Given the description of an element on the screen output the (x, y) to click on. 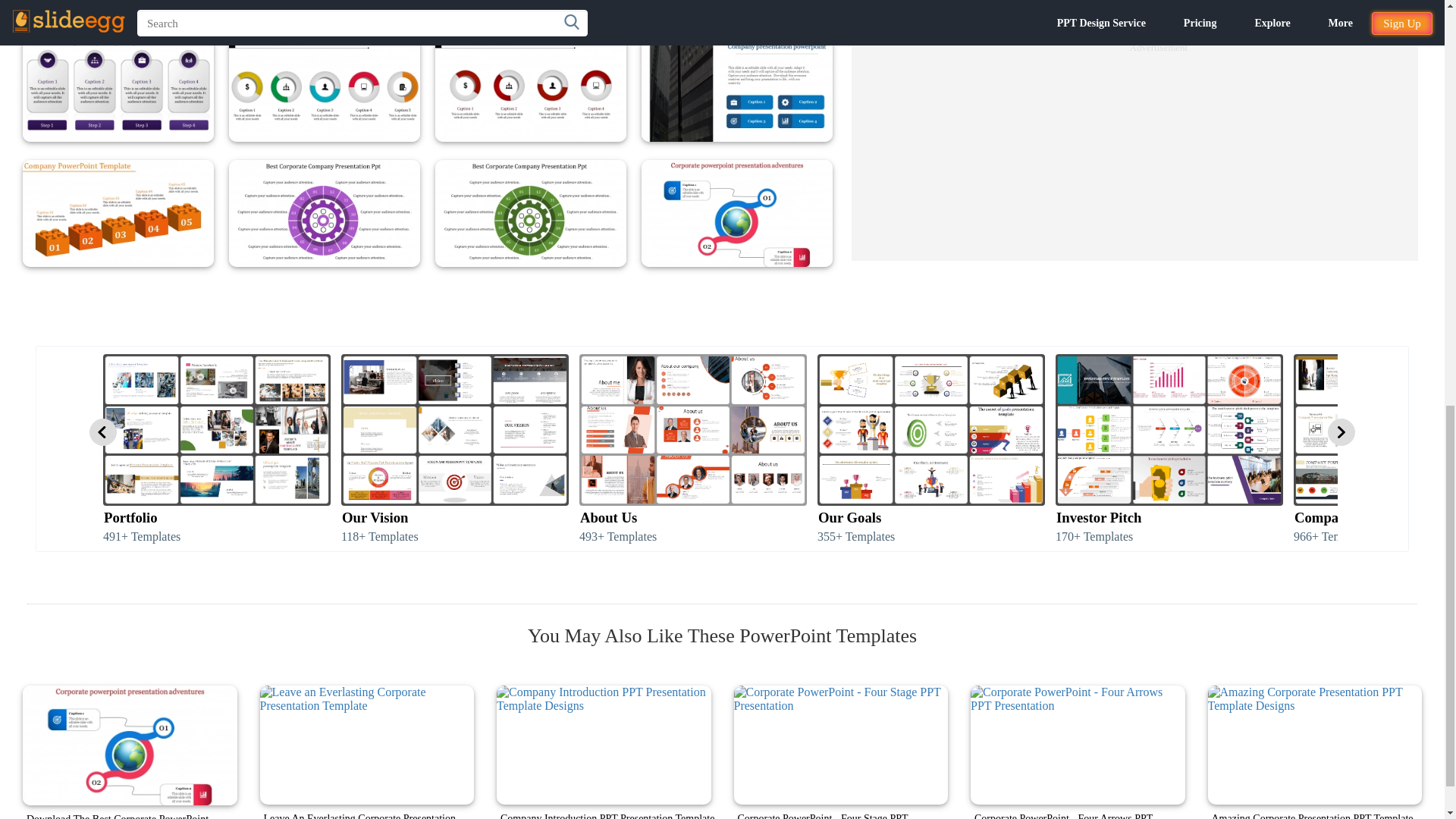
Download the Best Corporate PowerPoint Presentation (130, 745)
Corporate PowerPoint - Four Arrows PPT Presentation (1078, 745)
Amazing Corporate Presentation PPT Template Designs (1314, 745)
Corporate PowerPoint - Four Stage PPT Presentation (841, 745)
Company Introduction PPT Presentation Template Designs (603, 745)
Leave an Everlasting Corporate Presentation Template (366, 745)
